Given the description of an element on the screen output the (x, y) to click on. 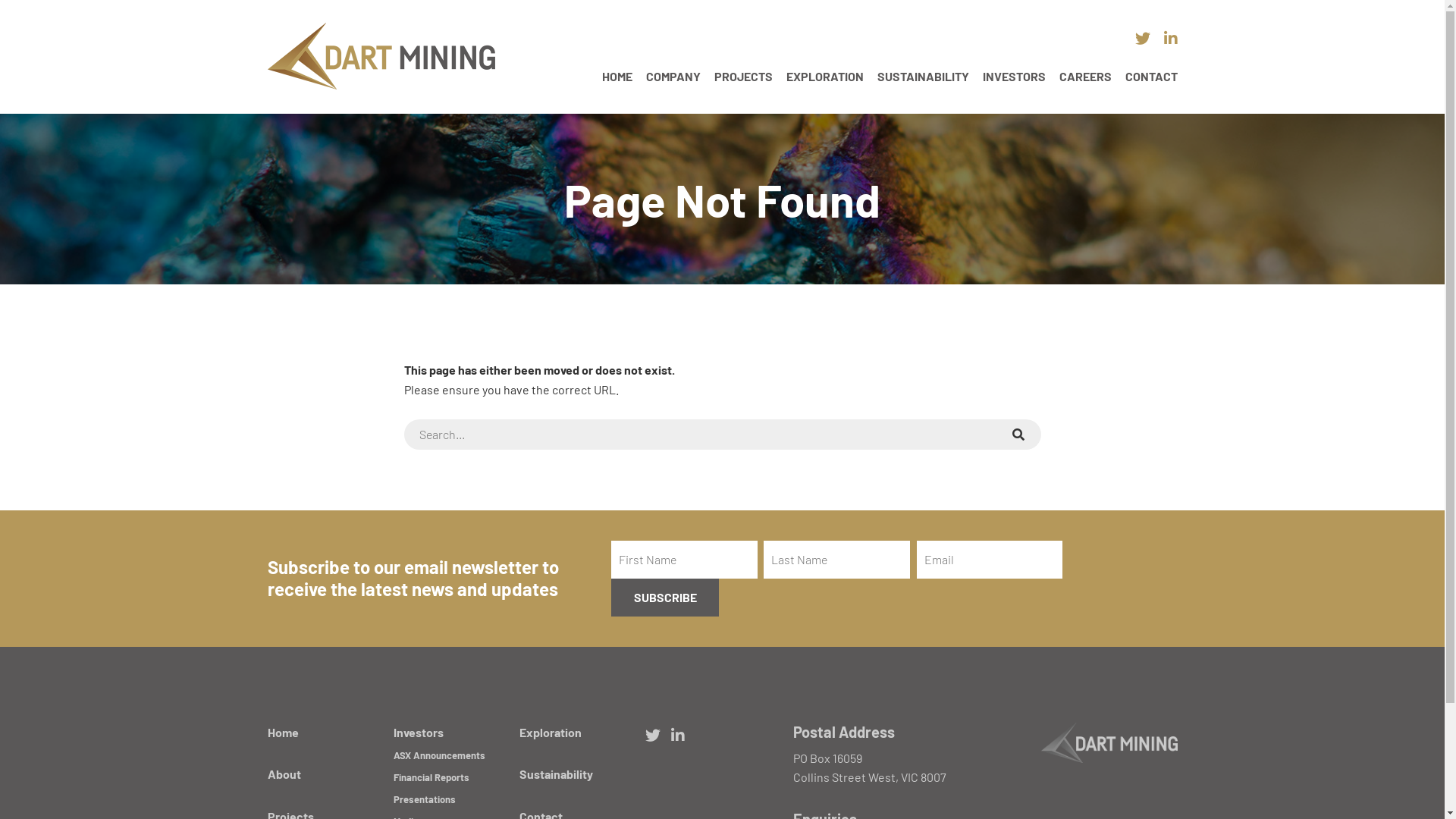
Financial Reports Element type: text (431, 777)
INVESTORS Element type: text (1013, 76)
Home Element type: text (282, 731)
PROJECTS Element type: text (743, 76)
About Element type: text (283, 773)
CAREERS Element type: text (1084, 76)
CONTACT Element type: text (1151, 76)
HOME Element type: text (617, 76)
COMPANY Element type: text (673, 76)
Subscribe Element type: text (664, 597)
Investors Element type: text (418, 731)
Exploration Element type: text (550, 731)
Presentations Element type: text (424, 799)
ASX Announcements Element type: text (439, 755)
Sustainability Element type: text (556, 773)
EXPLORATION Element type: text (823, 76)
SUSTAINABILITY Element type: text (922, 76)
